Given the description of an element on the screen output the (x, y) to click on. 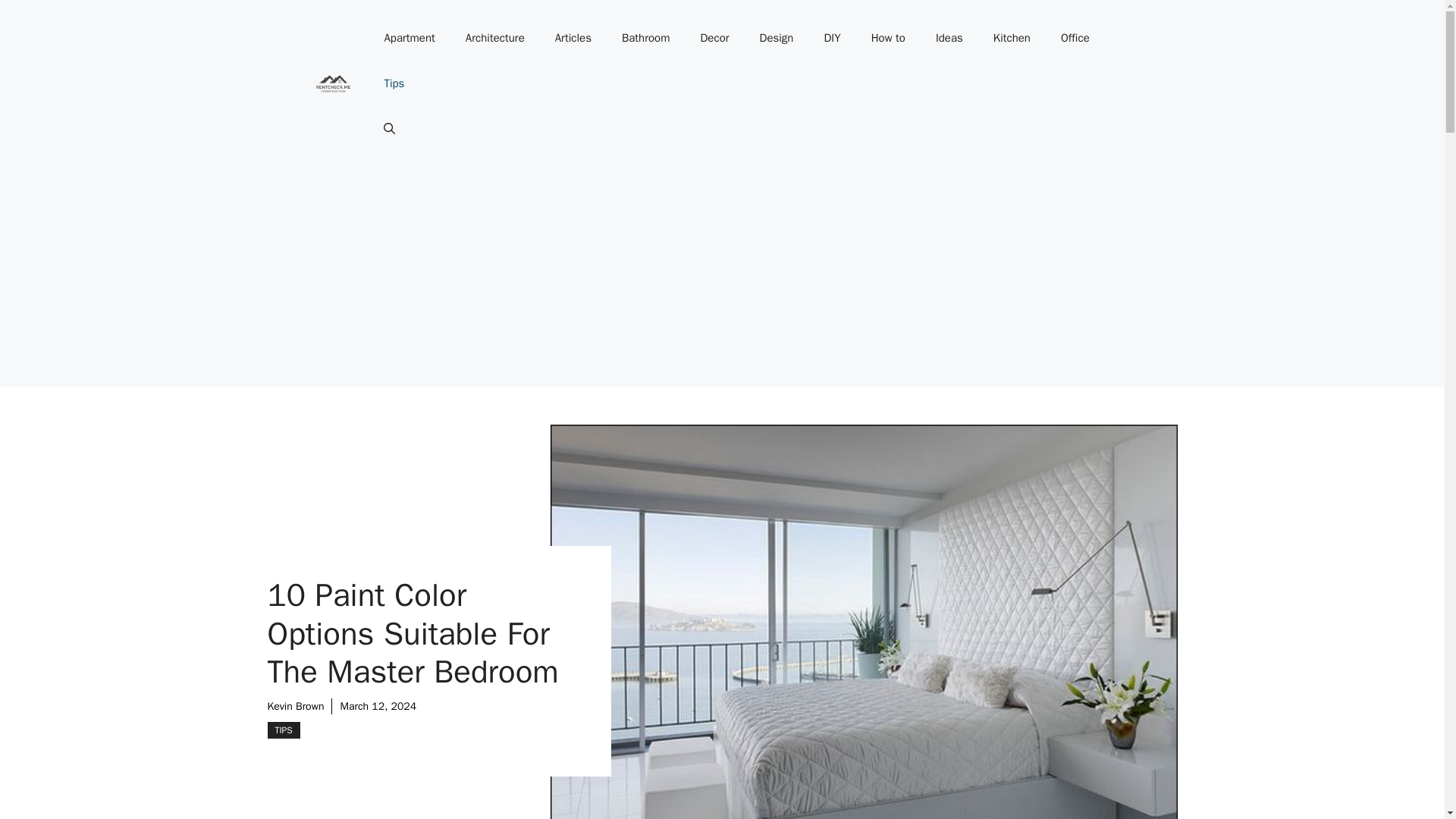
Office (1075, 37)
Apartment (408, 37)
Ideas (949, 37)
TIPS (282, 729)
Tips (393, 83)
Kevin Brown (294, 706)
Architecture (494, 37)
How to (888, 37)
Kitchen (1011, 37)
Bathroom (646, 37)
